Given the description of an element on the screen output the (x, y) to click on. 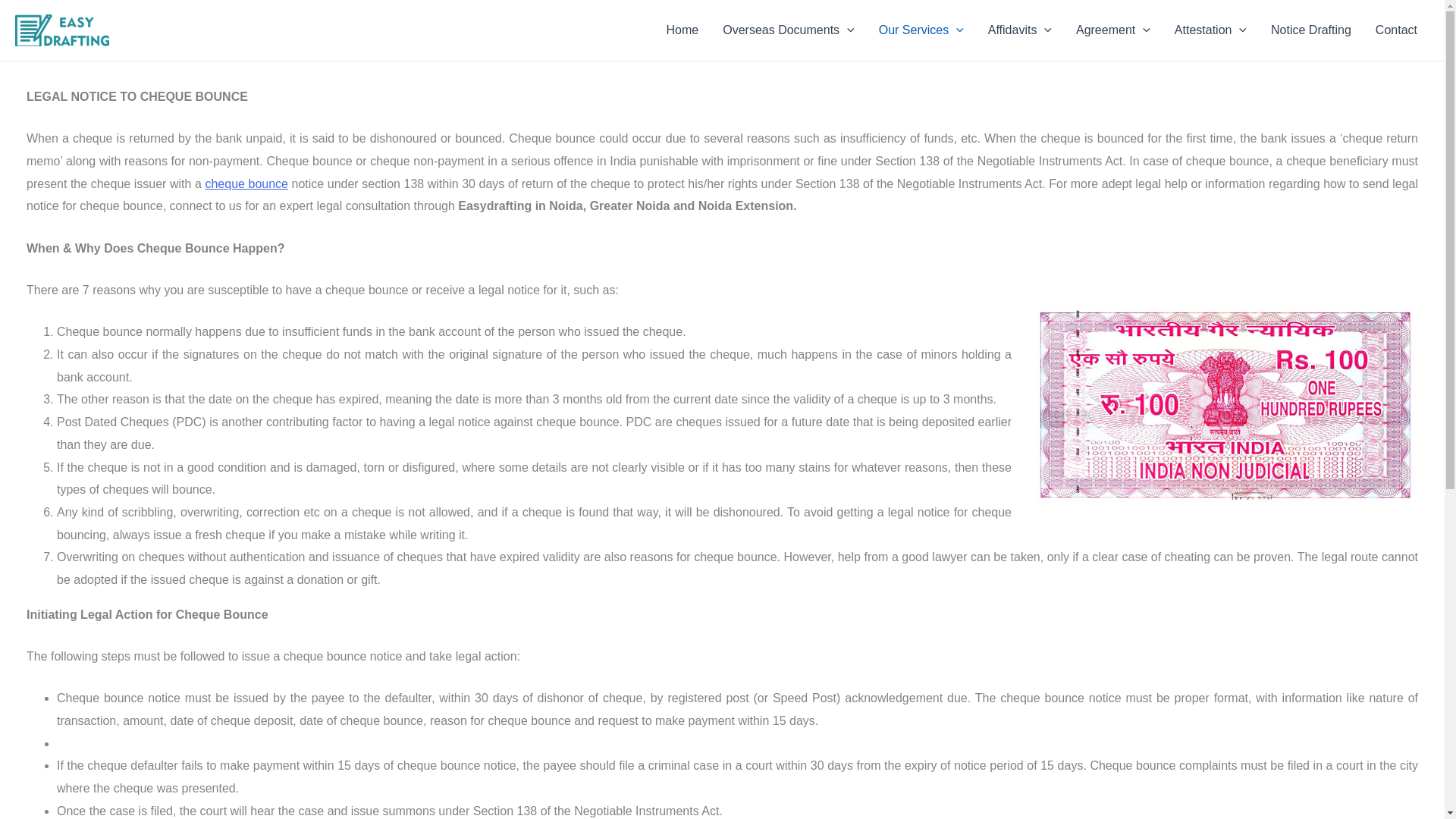
Our Services (920, 30)
Overseas Documents (788, 30)
Home (682, 30)
